Given the description of an element on the screen output the (x, y) to click on. 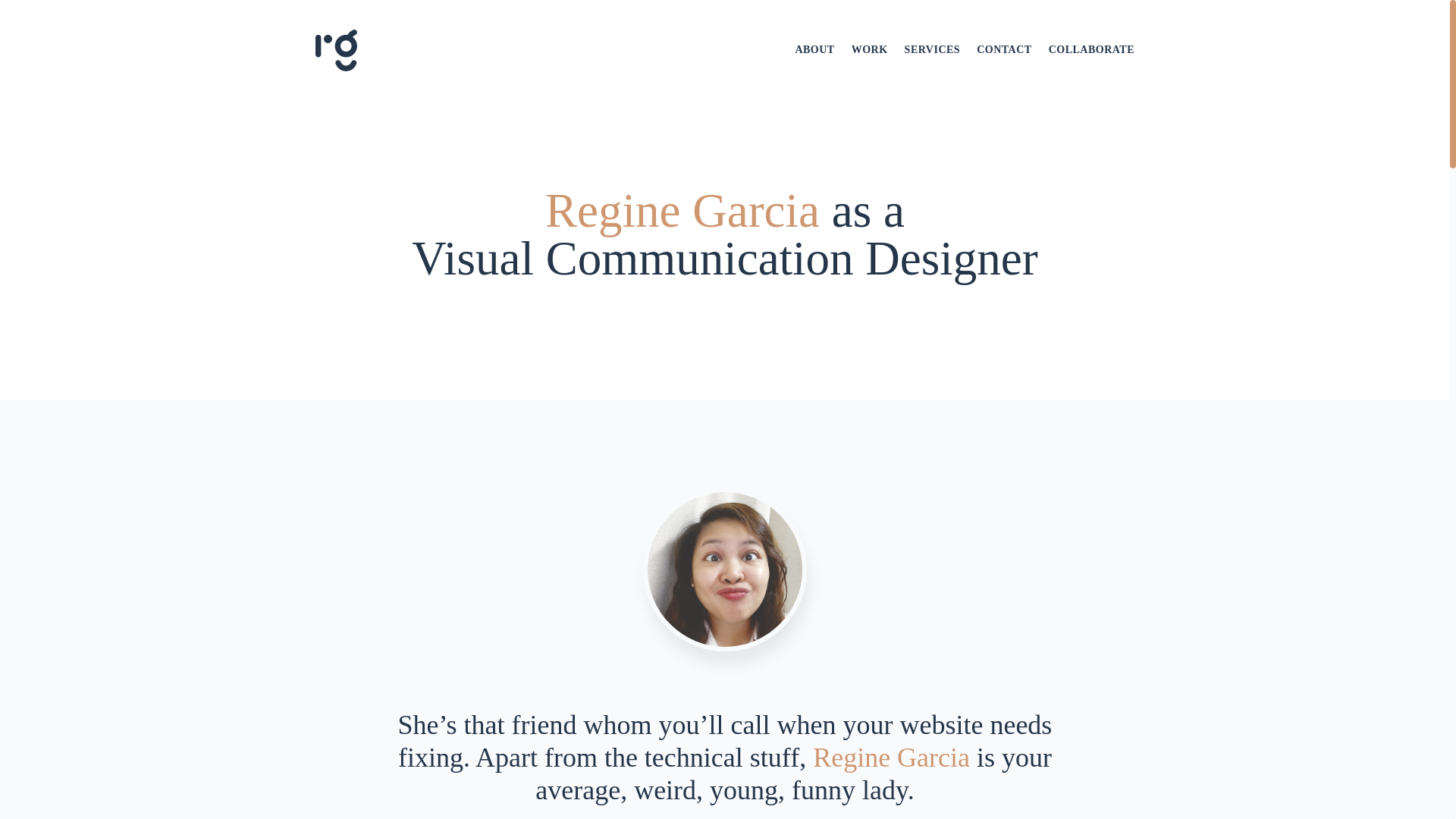
SERVICES (932, 49)
CONTACT (1003, 49)
COLLABORATE (1091, 49)
